Given the description of an element on the screen output the (x, y) to click on. 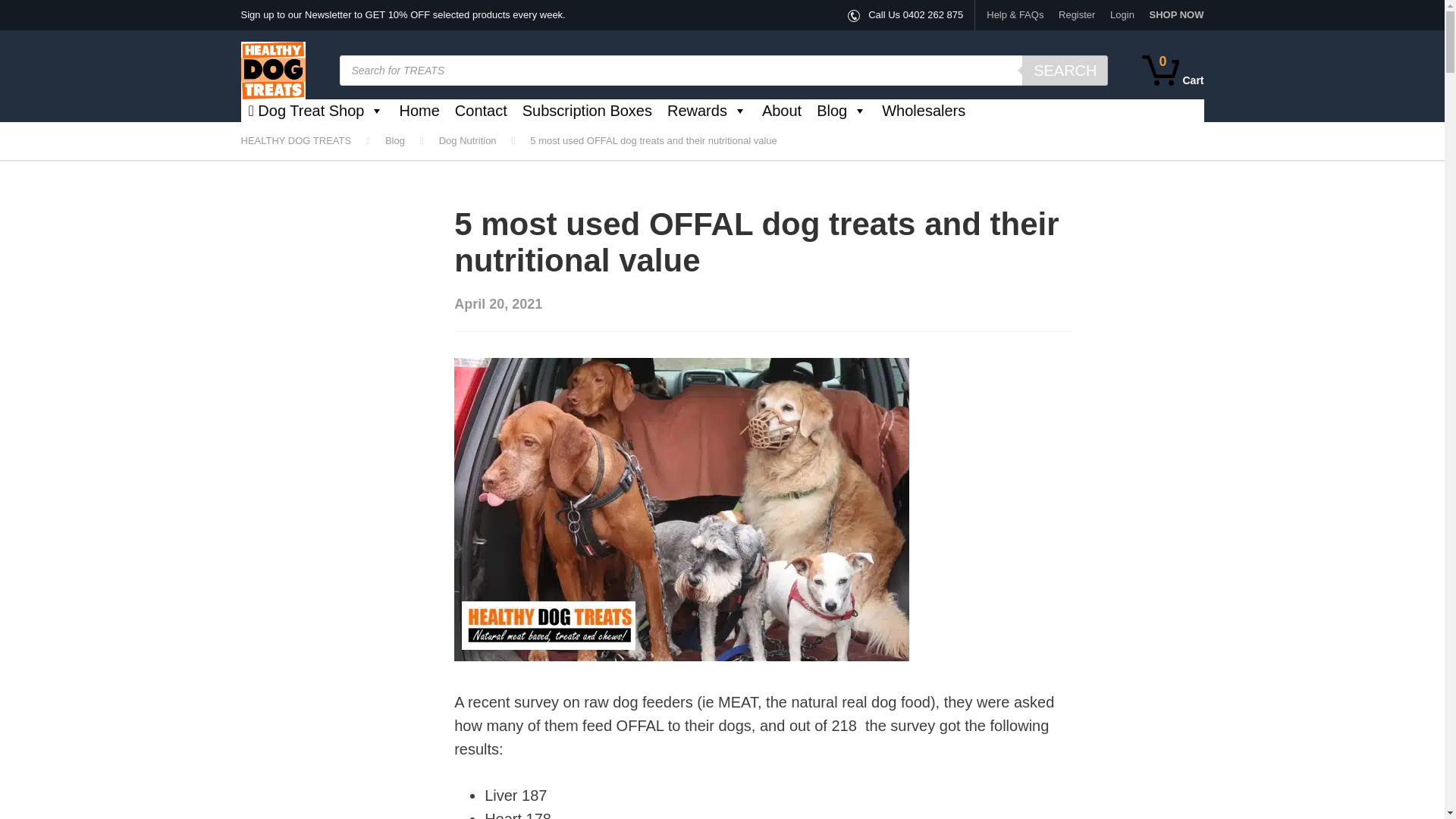
SHOP NOW (1173, 15)
Call Us 0402 262 875 (914, 14)
Go to the Dog Nutrition category archives. (485, 140)
SEARCH (1065, 70)
Register (1076, 15)
Go to HEALTHY DOG TREATS. (313, 140)
Login (1121, 15)
Call Us 0402 262 875 (914, 14)
Go to Blog. (412, 140)
Dog Treat Shop (1172, 70)
